Given the description of an element on the screen output the (x, y) to click on. 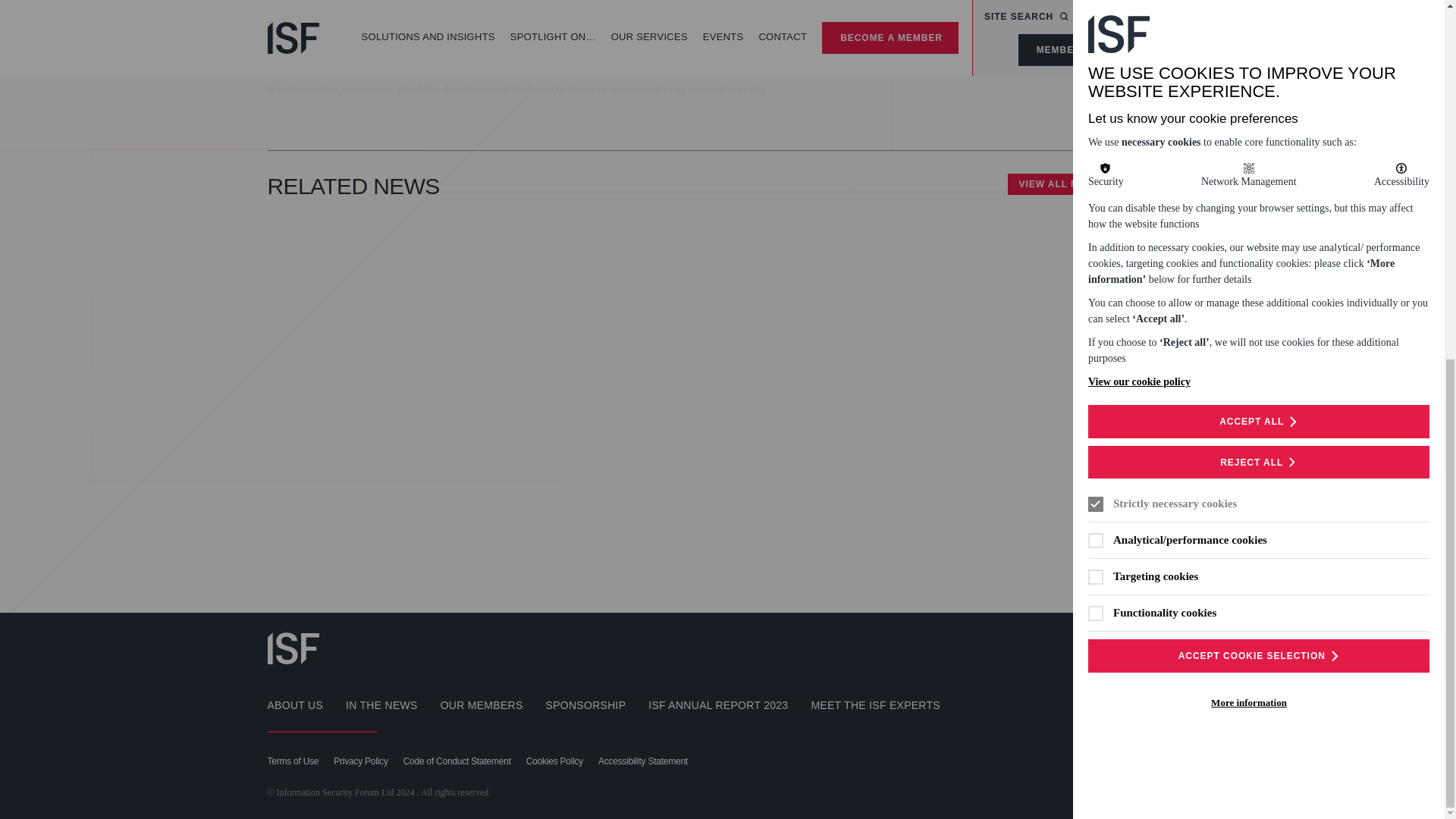
Youtube (1125, 645)
Youtube (1125, 645)
Podcast (1084, 645)
MEET THE ISF EXPERTS (875, 705)
IN THE NEWS (381, 705)
SPONSORSHIP (586, 705)
Podcast (1084, 645)
OUR MEMBERS (481, 705)
ISF ANNUAL REPORT 2023 (717, 705)
Terms of Use (292, 761)
Linkedin (1165, 645)
VIEW ALL NEWS ARTICLES (1091, 183)
Privacy Policy (360, 761)
ABOUT US (294, 705)
Information Security Forum (292, 648)
